Given the description of an element on the screen output the (x, y) to click on. 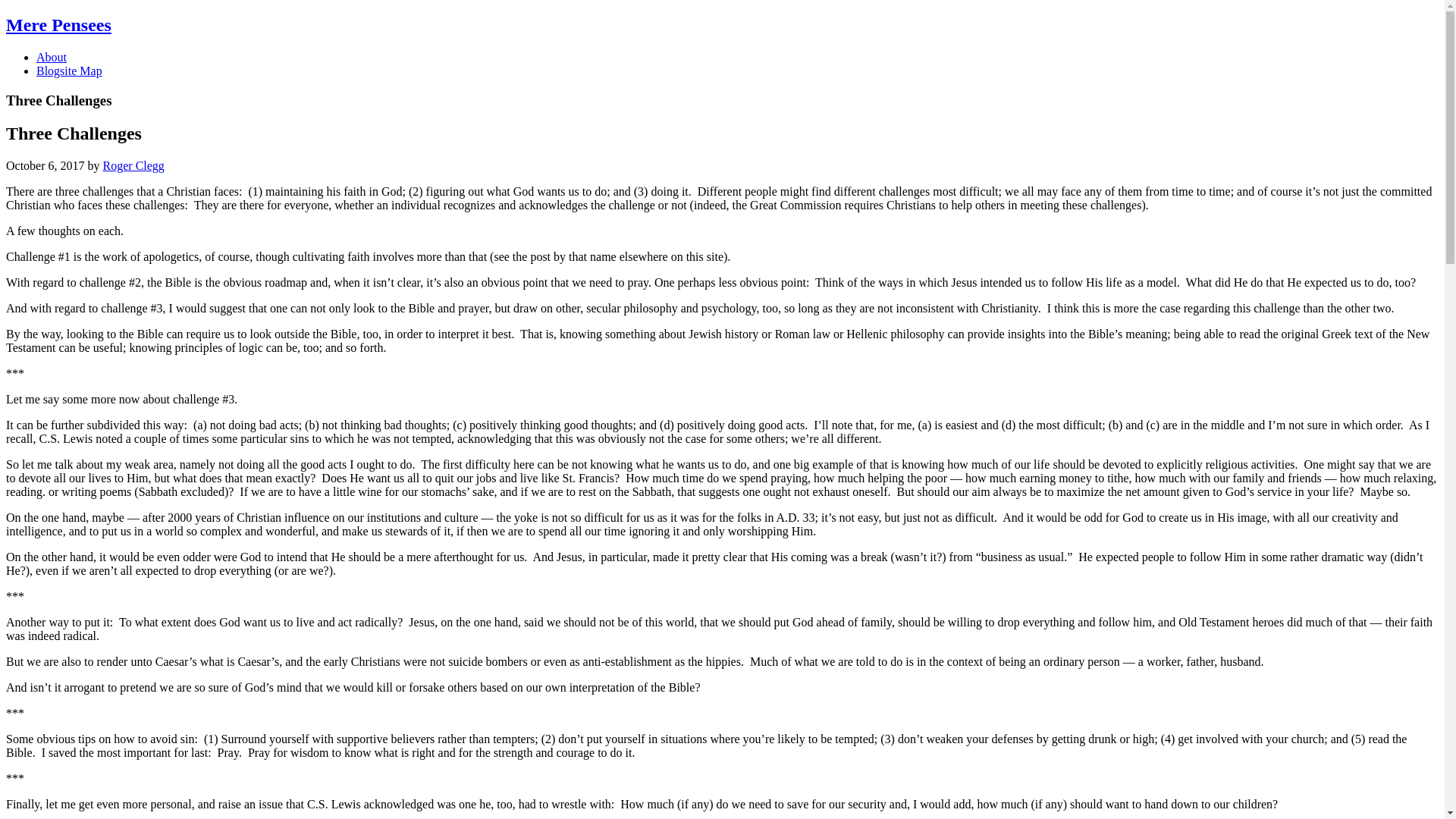
Roger Clegg (133, 164)
Friday, October 6, 2017, 4:28 pm (44, 164)
Mere Pensees (58, 25)
Blogsite Map (68, 70)
Posts by Roger Clegg (133, 164)
Mere Pensees (58, 25)
About (51, 56)
